Given the description of an element on the screen output the (x, y) to click on. 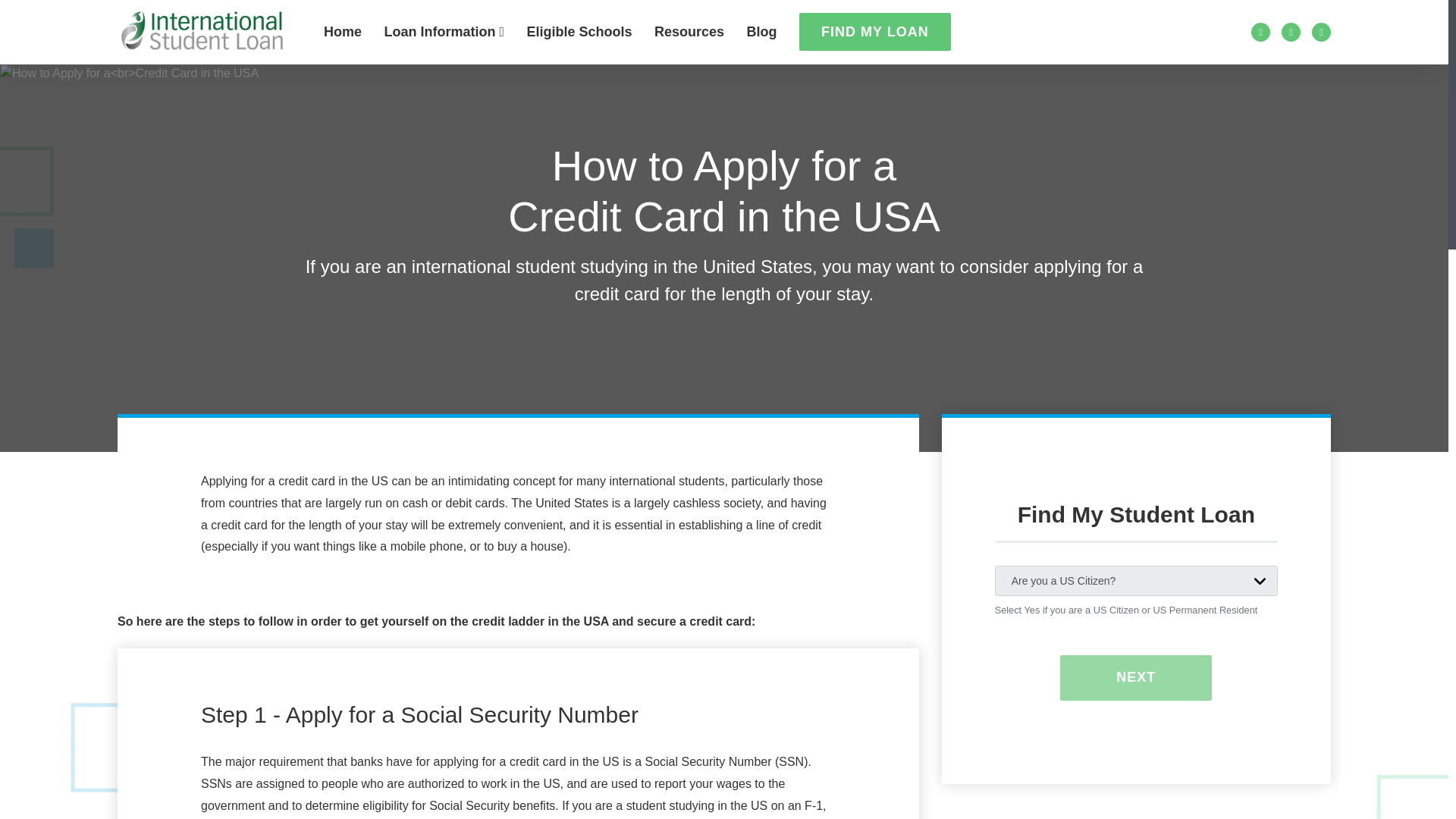
Resources (688, 31)
Loan Eligible School List  (578, 31)
International Student Loan Homepage (342, 31)
Twitter (1290, 31)
Loan Information and Details (443, 31)
Facebook (1259, 31)
Loan Information (443, 31)
Blog (760, 31)
Eligible Schools (578, 31)
FIND MY LOAN (874, 31)
